Given the description of an element on the screen output the (x, y) to click on. 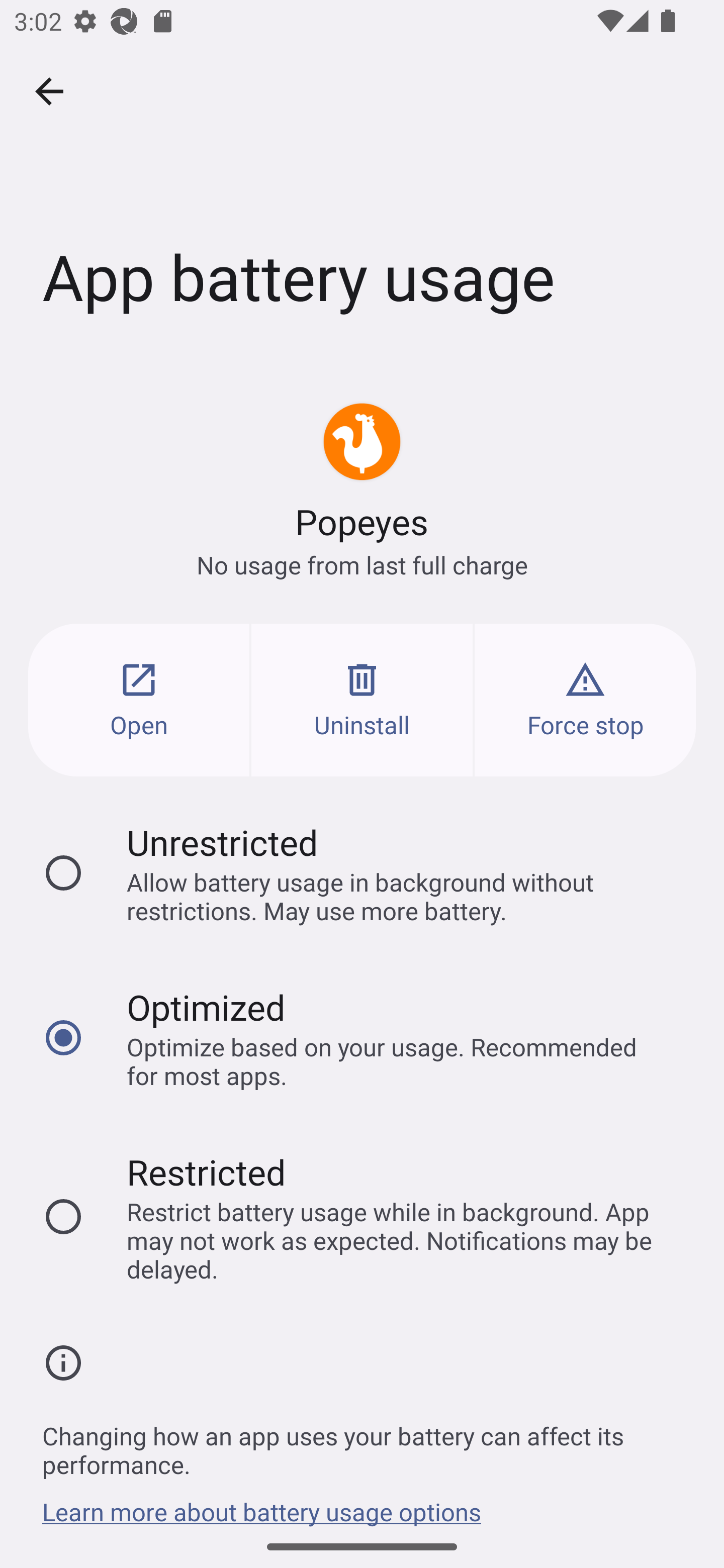
Navigate up (49, 91)
Open (138, 700)
Uninstall (361, 700)
Force stop (584, 700)
